Given the description of an element on the screen output the (x, y) to click on. 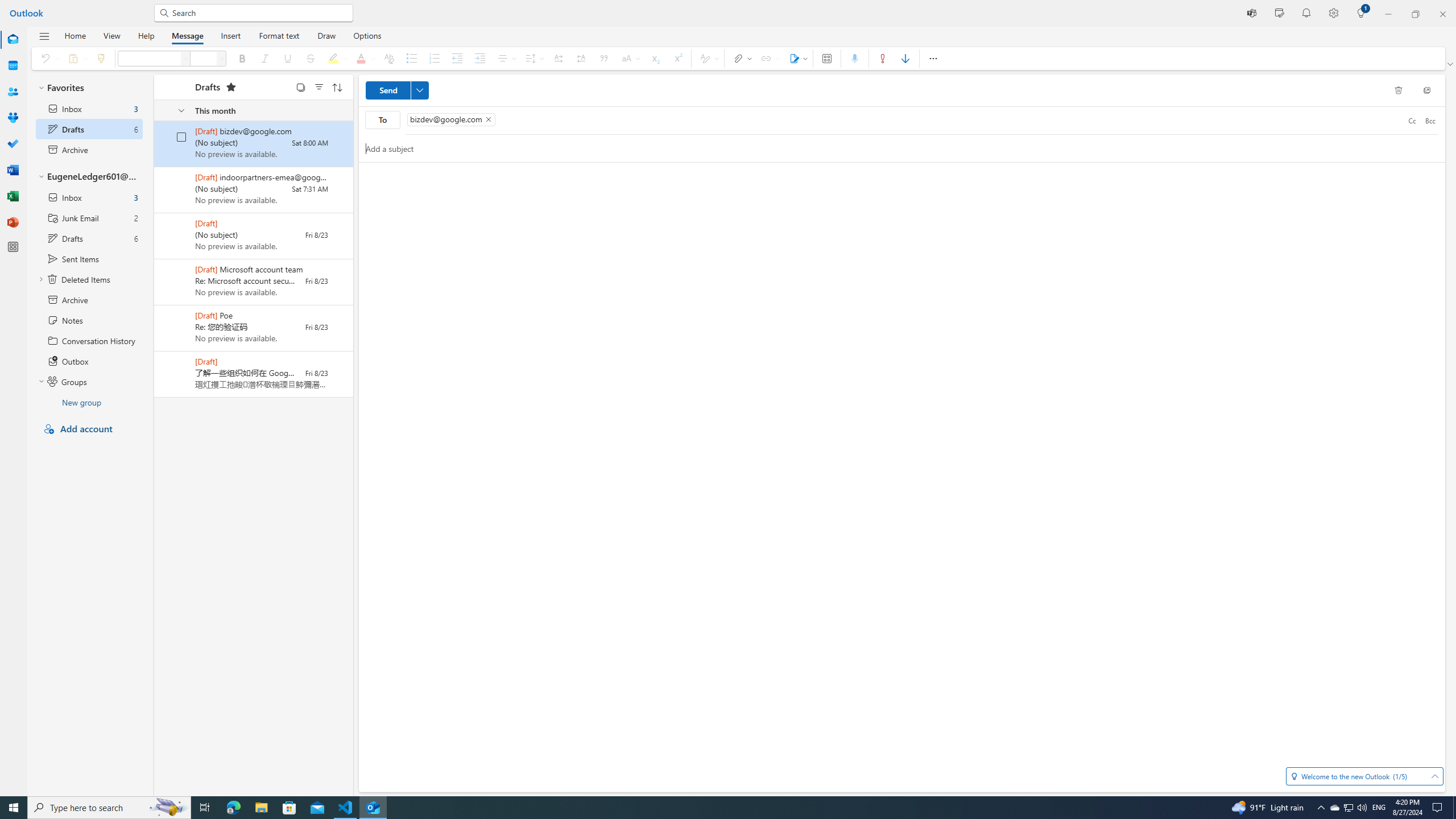
Conversation History (89, 340)
Apps (826, 58)
Notes (89, 319)
People (12, 92)
Archive (89, 299)
Calendar (12, 65)
Decrease indent (456, 58)
Ribbon display options (1450, 63)
Hide navigation pane (44, 36)
